Given the description of an element on the screen output the (x, y) to click on. 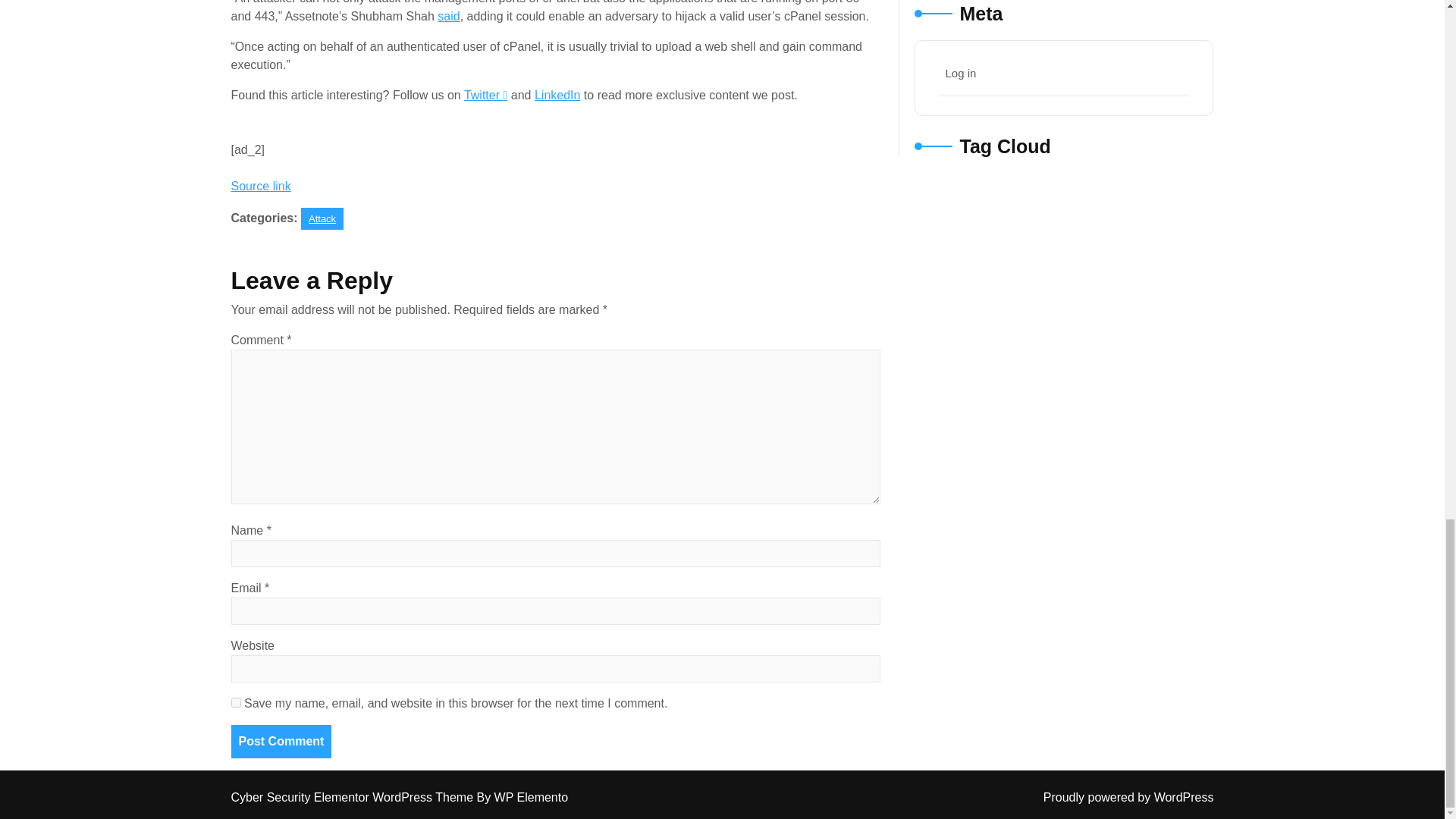
said (449, 15)
Post Comment (280, 741)
Attack (322, 219)
Source link (259, 185)
Post Comment (280, 741)
yes (235, 702)
LinkedIn (557, 94)
